Given the description of an element on the screen output the (x, y) to click on. 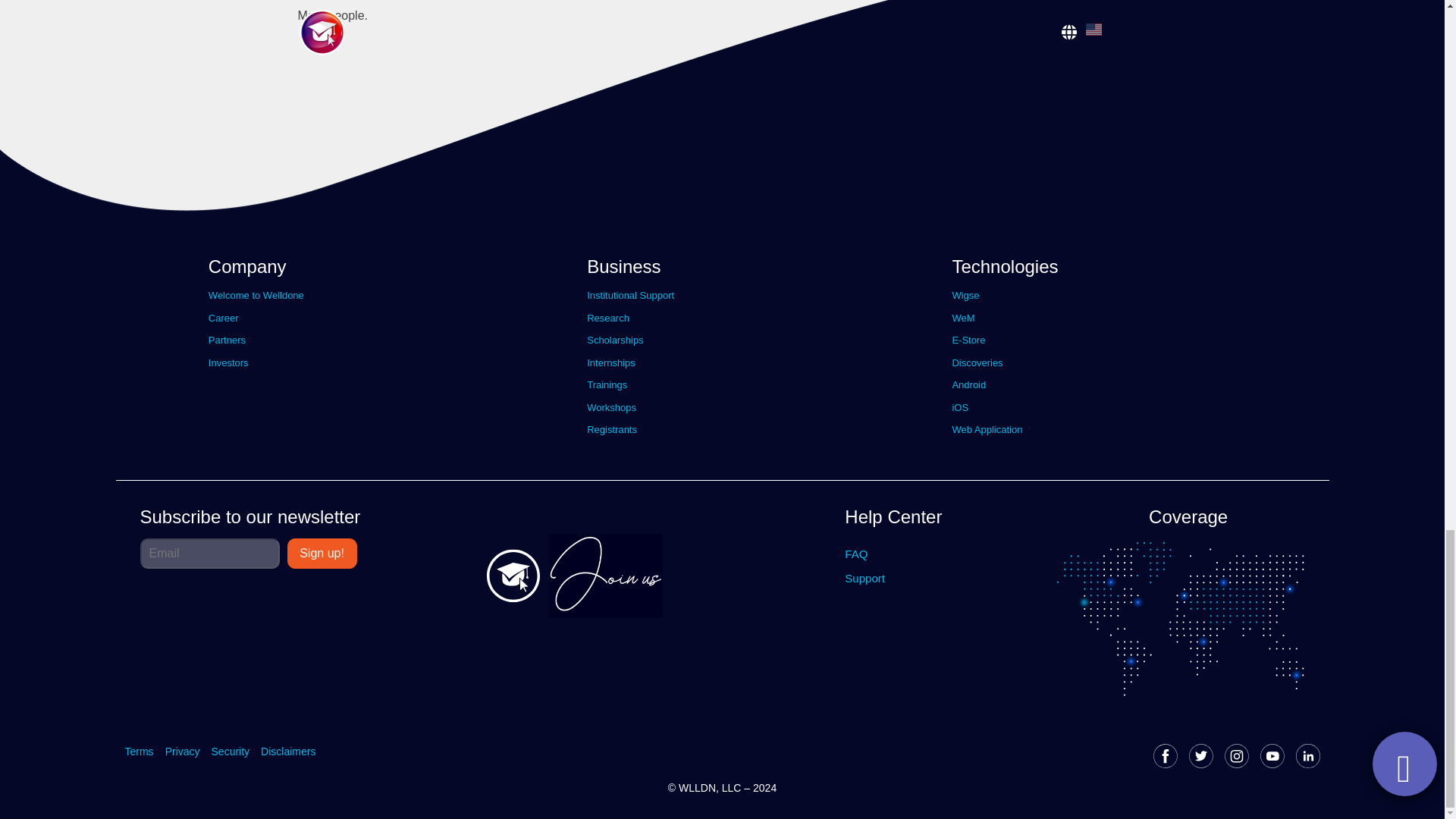
Trainings (606, 384)
Welcome to Welldone (256, 295)
iOS (960, 406)
Partners (227, 339)
E-Store (968, 339)
Career (223, 317)
WeM (963, 317)
Scholarships (614, 339)
Internships (610, 362)
Wigse (965, 295)
Sign up! (321, 552)
Institutional Support (630, 295)
Discoveries (977, 362)
Workshops (611, 406)
Android (968, 384)
